Given the description of an element on the screen output the (x, y) to click on. 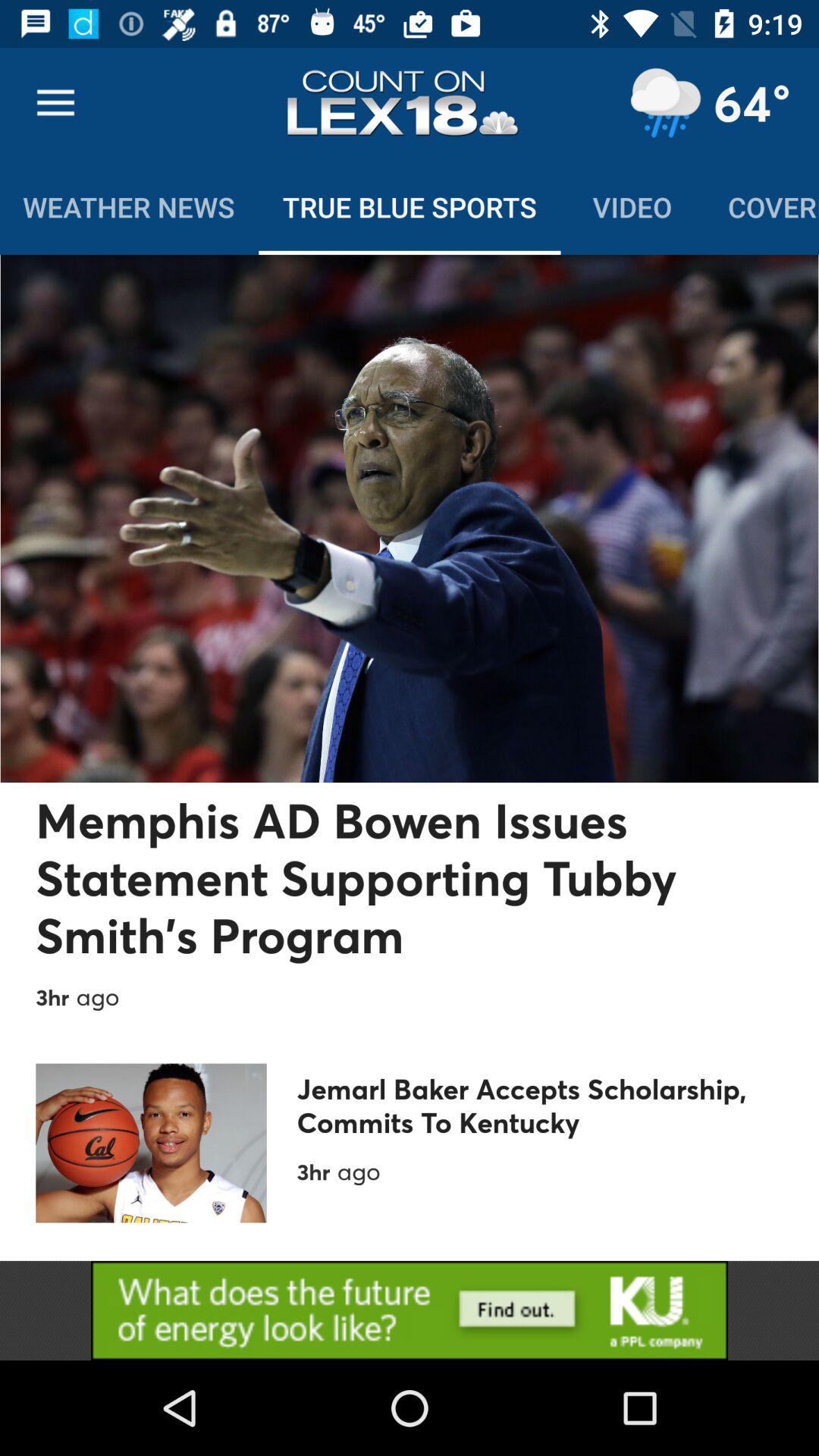
the button is used to know weather (665, 103)
